Given the description of an element on the screen output the (x, y) to click on. 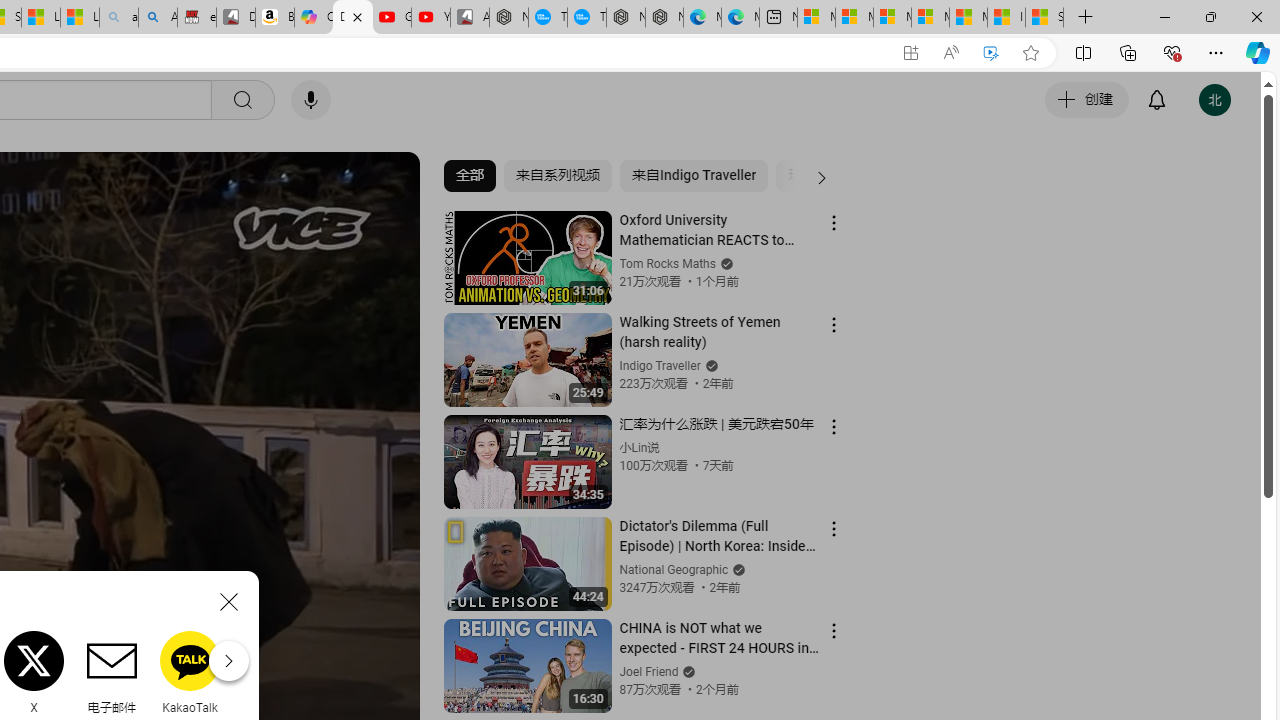
Nordace - My Account (509, 17)
Amazon Echo Dot PNG - Search Images (157, 17)
amazon - Search - Sleeping (118, 17)
The most popular Google 'how to' searches (586, 17)
App available. Install YouTube (910, 53)
